Given the description of an element on the screen output the (x, y) to click on. 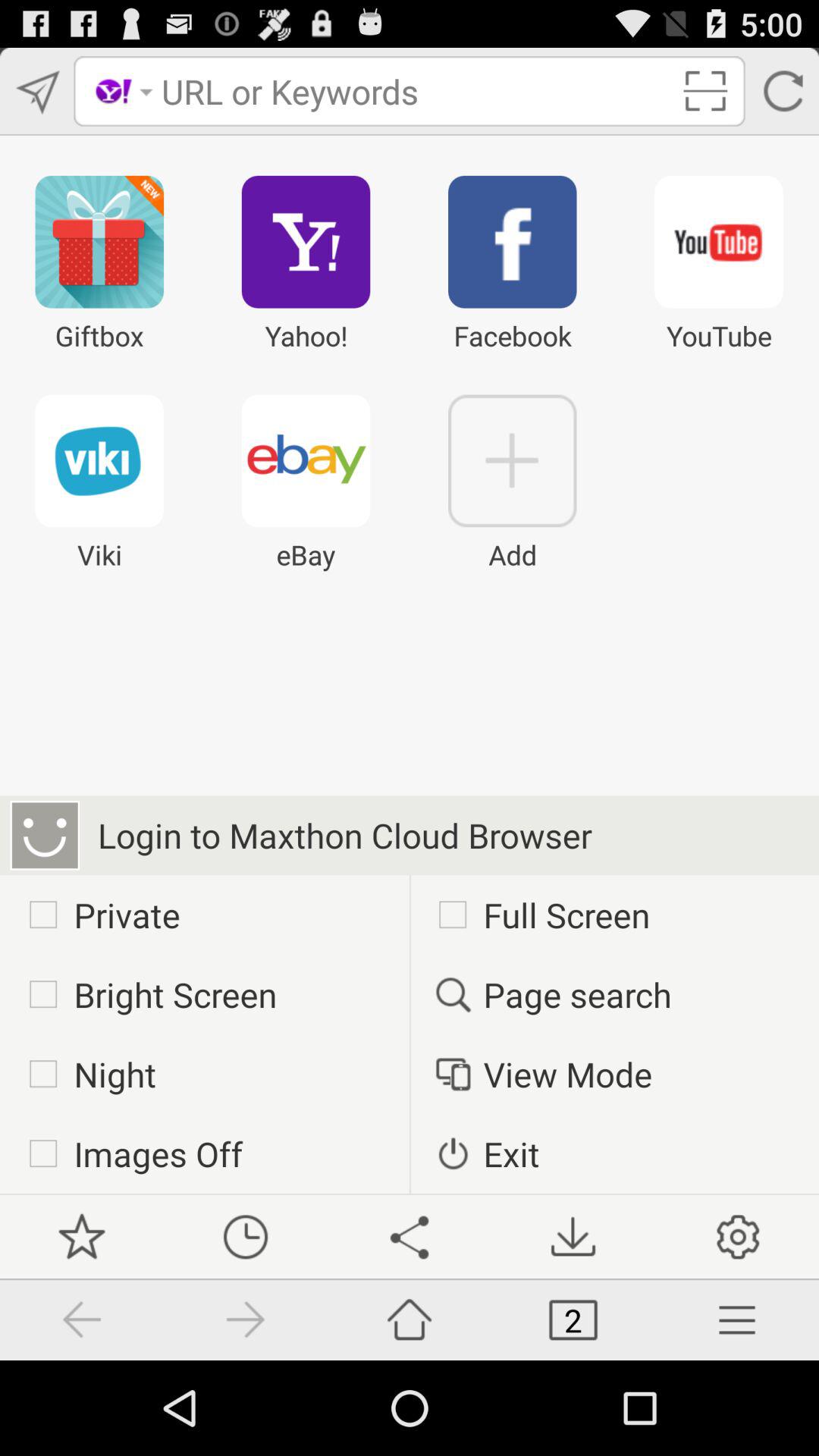
type in url or search (415, 91)
